Given the description of an element on the screen output the (x, y) to click on. 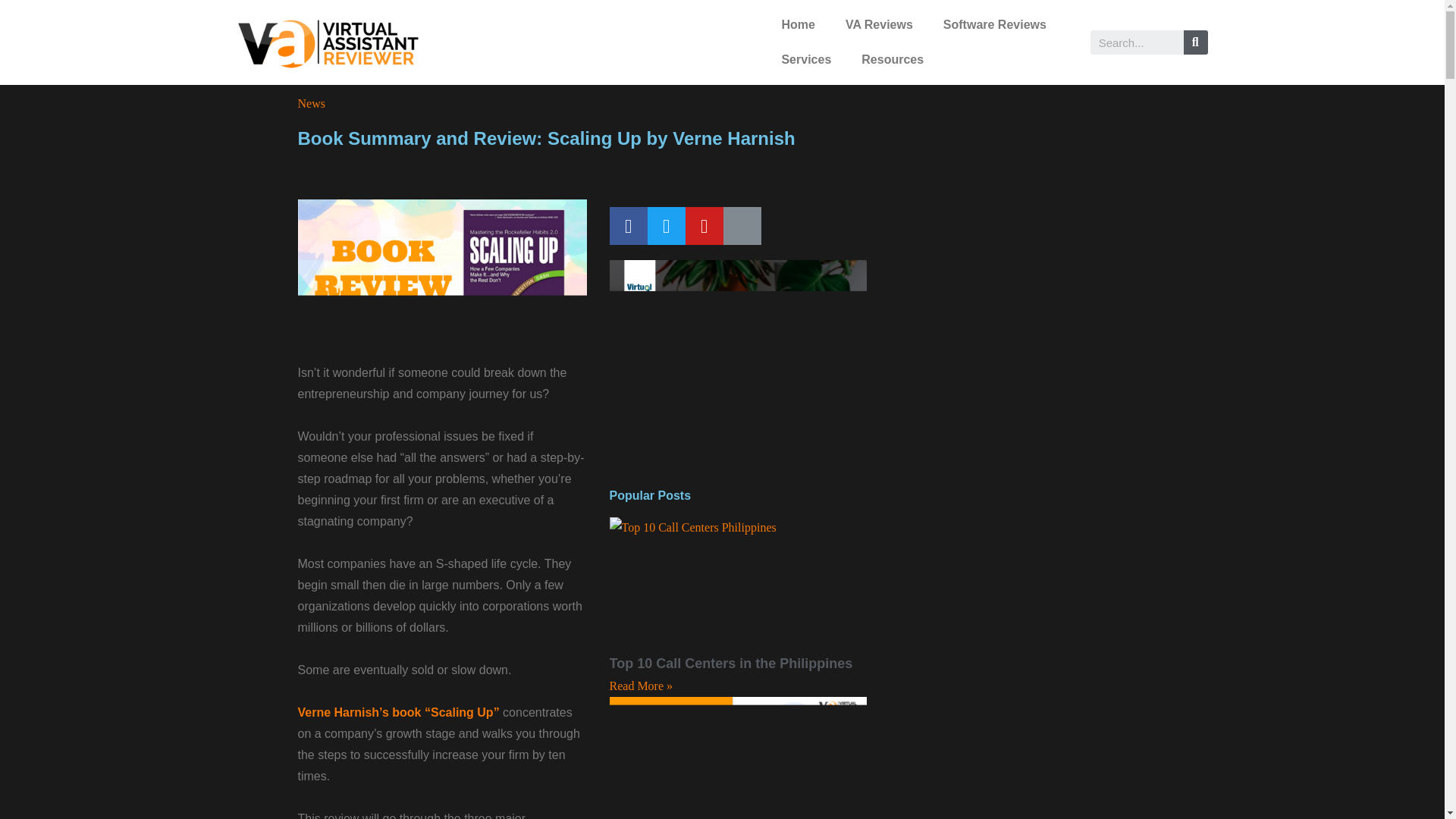
VA Reviews (878, 24)
Software Reviews (994, 24)
Resources (892, 59)
Services (805, 59)
News (310, 103)
Home (797, 24)
